Given the description of an element on the screen output the (x, y) to click on. 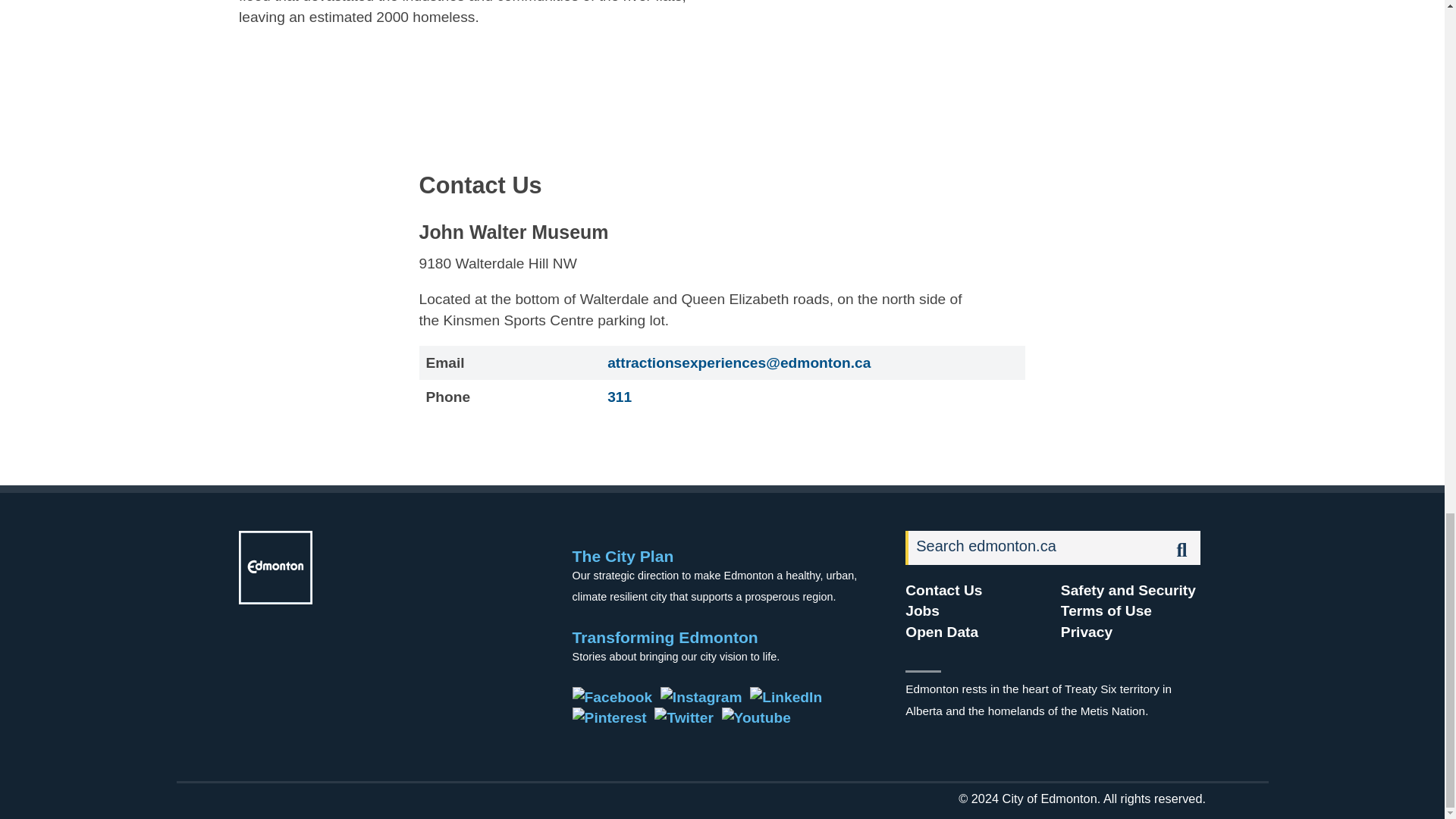
The City Plan (623, 556)
311 (619, 396)
Transforming Edmonton (665, 637)
Search (1034, 547)
